Given the description of an element on the screen output the (x, y) to click on. 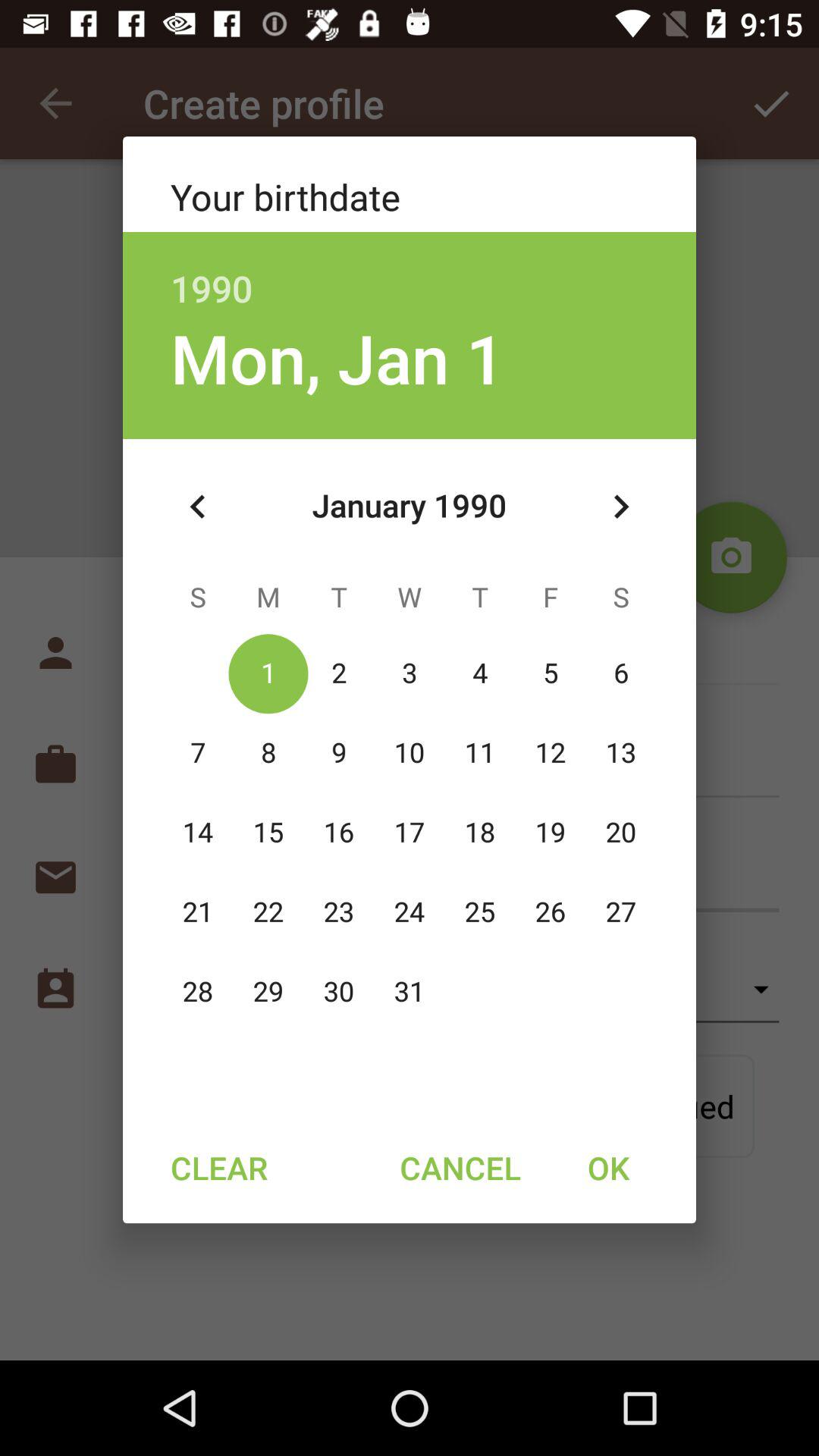
turn off icon at the bottom right corner (608, 1167)
